Given the description of an element on the screen output the (x, y) to click on. 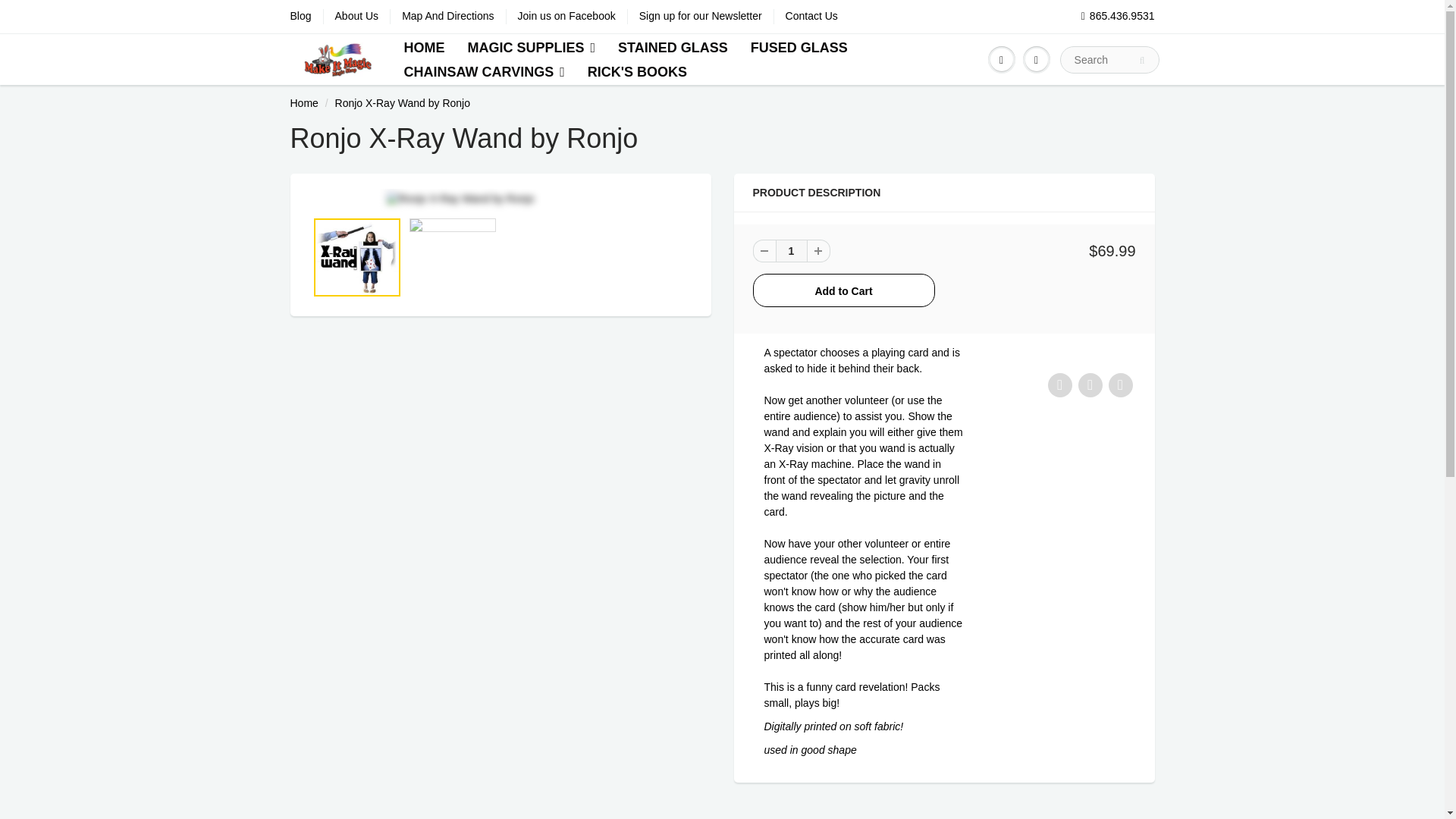
Ronjo X-Ray Wand by Ronjo (500, 199)
Sign up for our Newsletter (700, 16)
Join us on Facebook (566, 16)
Blog (300, 16)
About Us (356, 16)
865.436.9531 (1117, 16)
Map And Directions (447, 16)
MAGIC SUPPLIES (531, 47)
HOME (423, 47)
Contact Us (812, 16)
1 (790, 250)
Home (303, 102)
Add to Cart (843, 290)
